Given the description of an element on the screen output the (x, y) to click on. 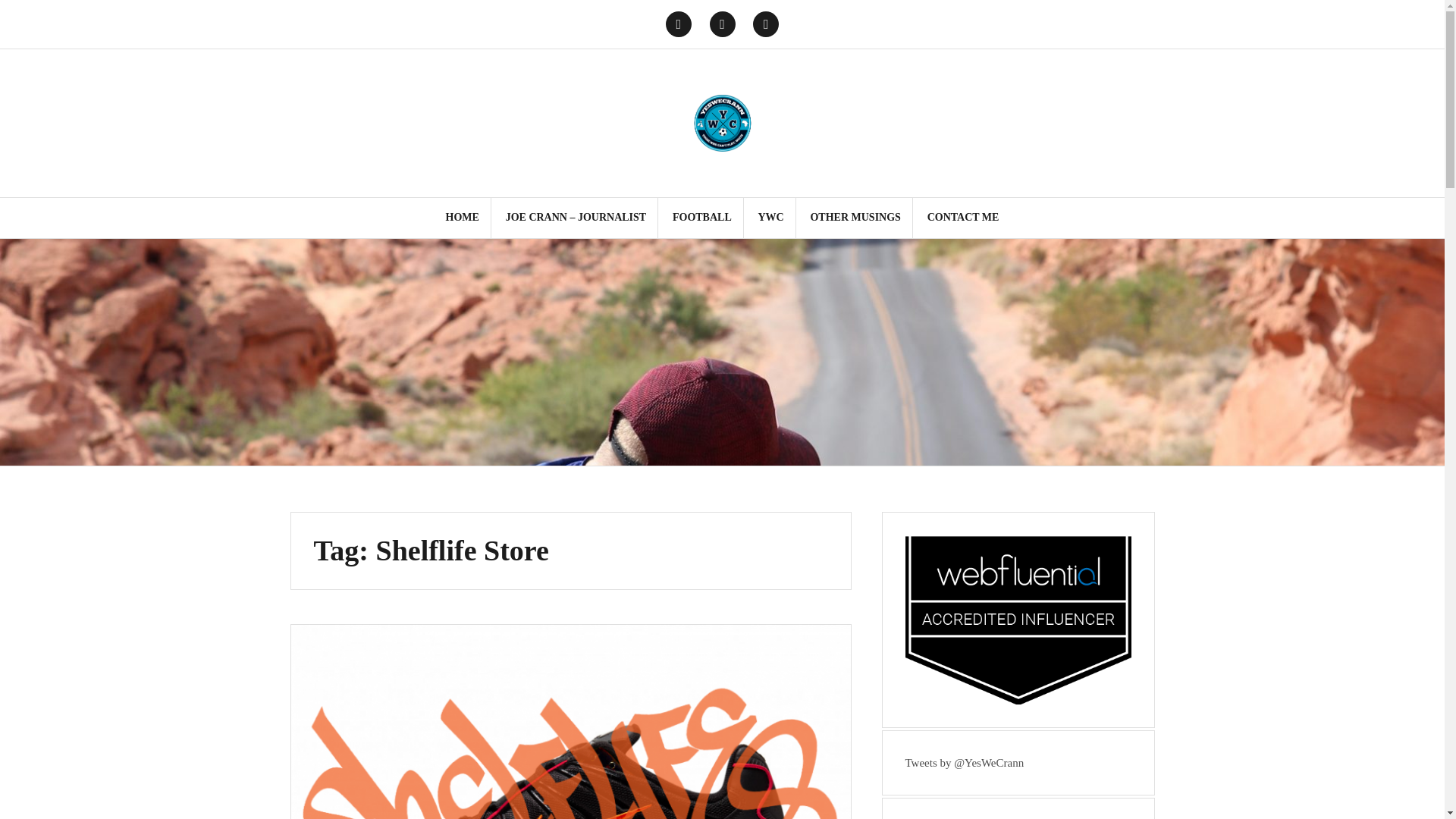
Instagram (721, 23)
Twitter (678, 23)
Facebook (765, 23)
FOOTBALL (702, 217)
YWC (770, 217)
HOME (462, 217)
YesWeCrann (721, 121)
OTHER MUSINGS (854, 217)
CONTACT ME (962, 217)
